Given the description of an element on the screen output the (x, y) to click on. 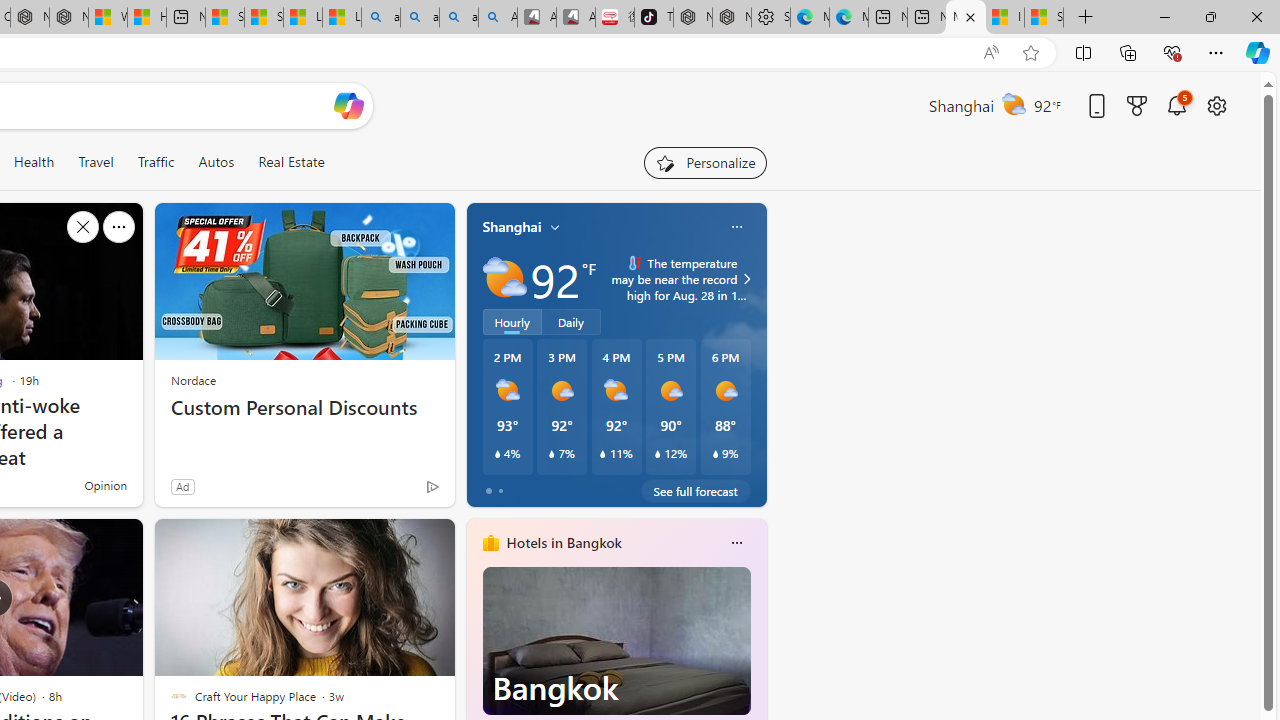
tab-1 (500, 490)
next (756, 670)
Class: weather-current-precipitation-glyph (715, 453)
amazon - Search Images (458, 17)
Nordace Siena Pro 15 Backpack (732, 17)
Hourly (511, 321)
